Given the description of an element on the screen output the (x, y) to click on. 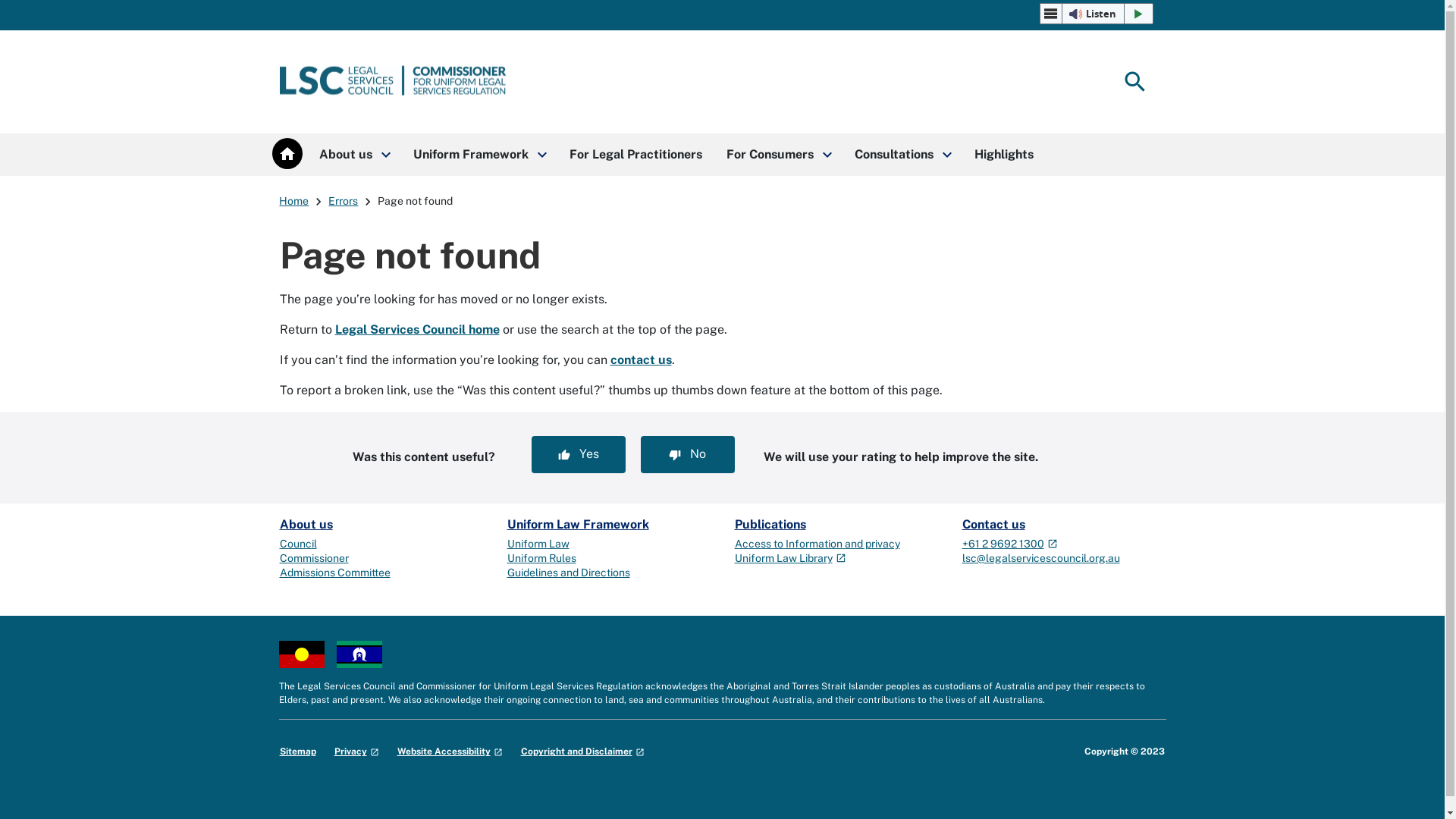
search
Show
Search Element type: text (1134, 81)
About us
keyboard_arrow_right Element type: text (353, 154)
lsc@legalservicescouncil.org.au Element type: text (1040, 558)
Admissions Committee Element type: text (334, 572)
The webite of Legal Services council Element type: text (392, 81)
+61 2 9692 1300
- external site
launch Element type: text (1009, 543)
Uniform Law Element type: text (537, 543)
Council Element type: text (297, 543)
Uniform Framework
keyboard_arrow_right Element type: text (478, 154)
Legal Services Council home Element type: text (417, 329)
webReader menu Element type: hover (1050, 13)
Listen Element type: text (1096, 13)
Home Element type: text (293, 200)
Commissioner Element type: text (313, 558)
Website Accessibility
- external site
launch Element type: text (449, 751)
Access to Information and privacy Element type: text (816, 543)
Uniform Rules Element type: text (540, 558)
Copyright and Disclaimer
- external site
launch Element type: text (581, 751)
Privacy
- external site
launch Element type: text (355, 751)
home Element type: text (286, 153)
Errors Element type: text (342, 200)
Highlights Element type: text (1002, 154)
Sitemap Element type: text (297, 751)
contact us Element type: text (640, 359)
About us Element type: text (305, 524)
Publications Element type: text (769, 524)
For Legal Practitioners Element type: text (634, 154)
Contact us Element type: text (992, 524)
For Consumers
keyboard_arrow_right Element type: text (778, 154)
Guidelines and Directions Element type: text (567, 572)
Uniform Law Framework Element type: text (577, 524)
Consultations
keyboard_arrow_right Element type: text (901, 154)
Uniform Law Library
- external site
launch Element type: text (789, 558)
